Given the description of an element on the screen output the (x, y) to click on. 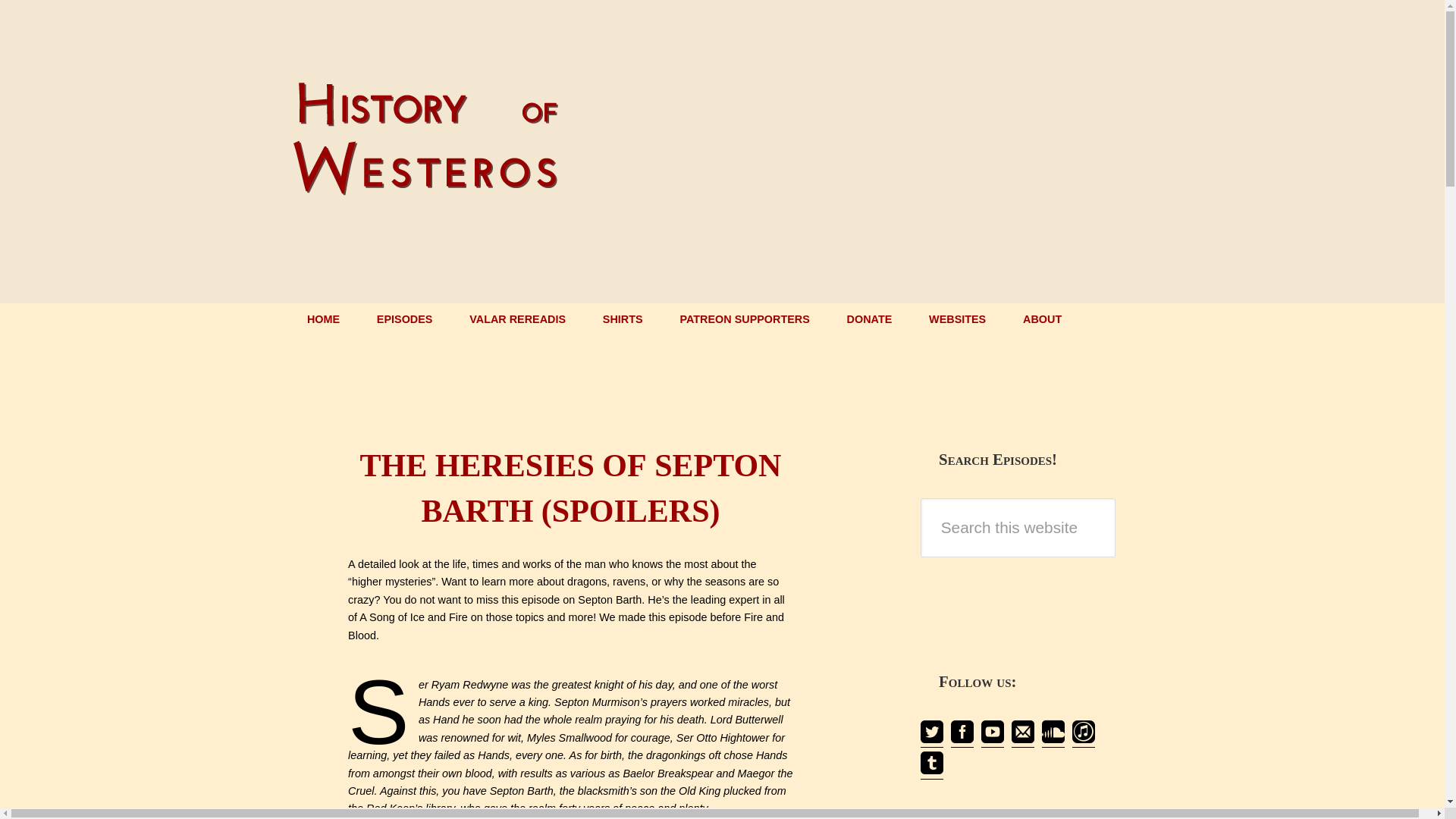
SHIRTS (622, 319)
PATREON SUPPORTERS (744, 319)
DONATE (868, 319)
VALAR REREADIS (517, 319)
HOME (322, 319)
ABOUT (1042, 319)
History of Westeros (425, 184)
WEBSITES (957, 319)
